Given the description of an element on the screen output the (x, y) to click on. 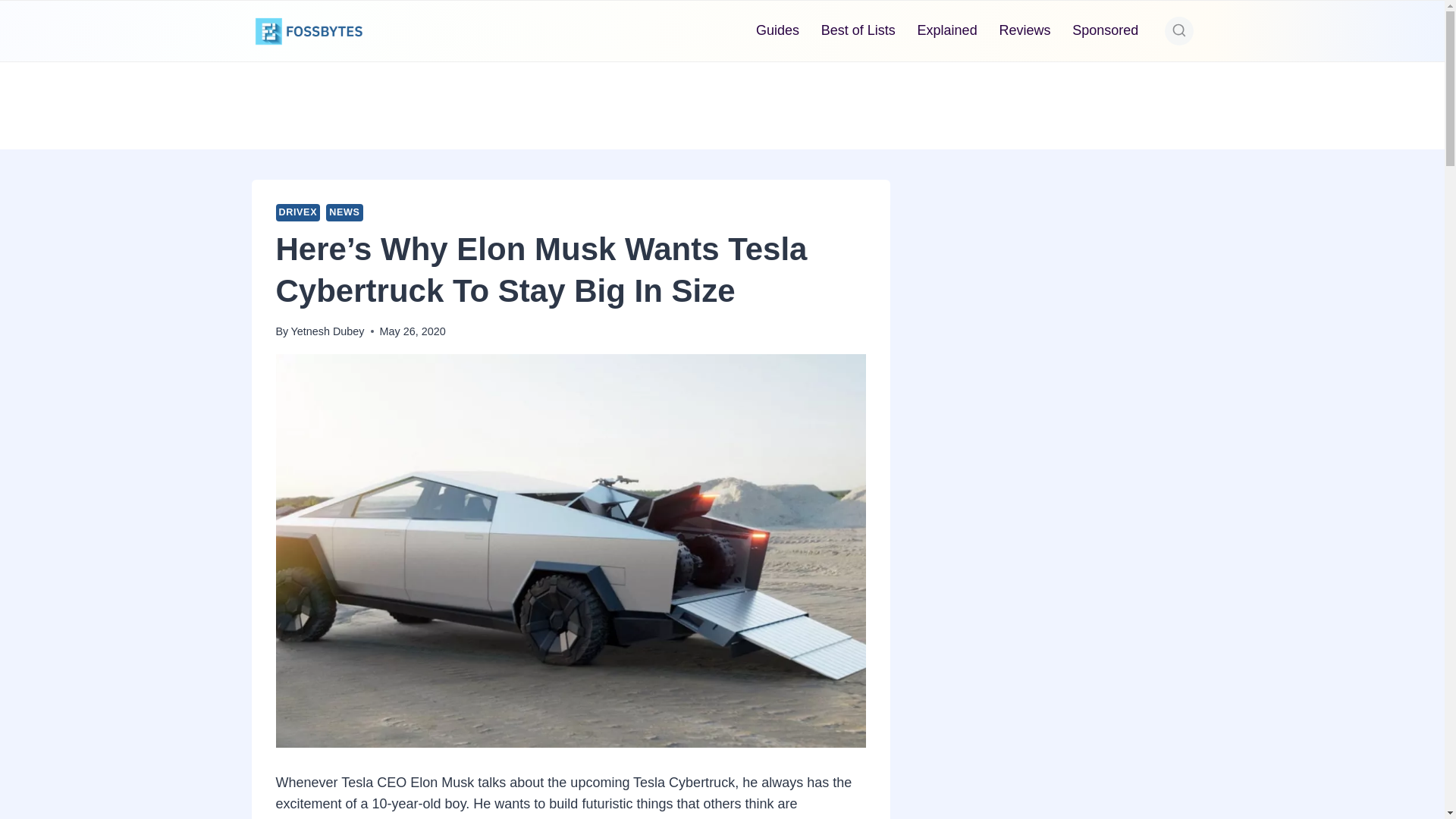
DRIVEX (298, 212)
Best of Lists (857, 30)
NEWS (344, 212)
Sponsored (1105, 30)
Advertisement (721, 101)
Explained (946, 30)
Yetnesh Dubey (326, 331)
Reviews (1024, 30)
Guides (777, 30)
Advertisement (1051, 443)
